Given the description of an element on the screen output the (x, y) to click on. 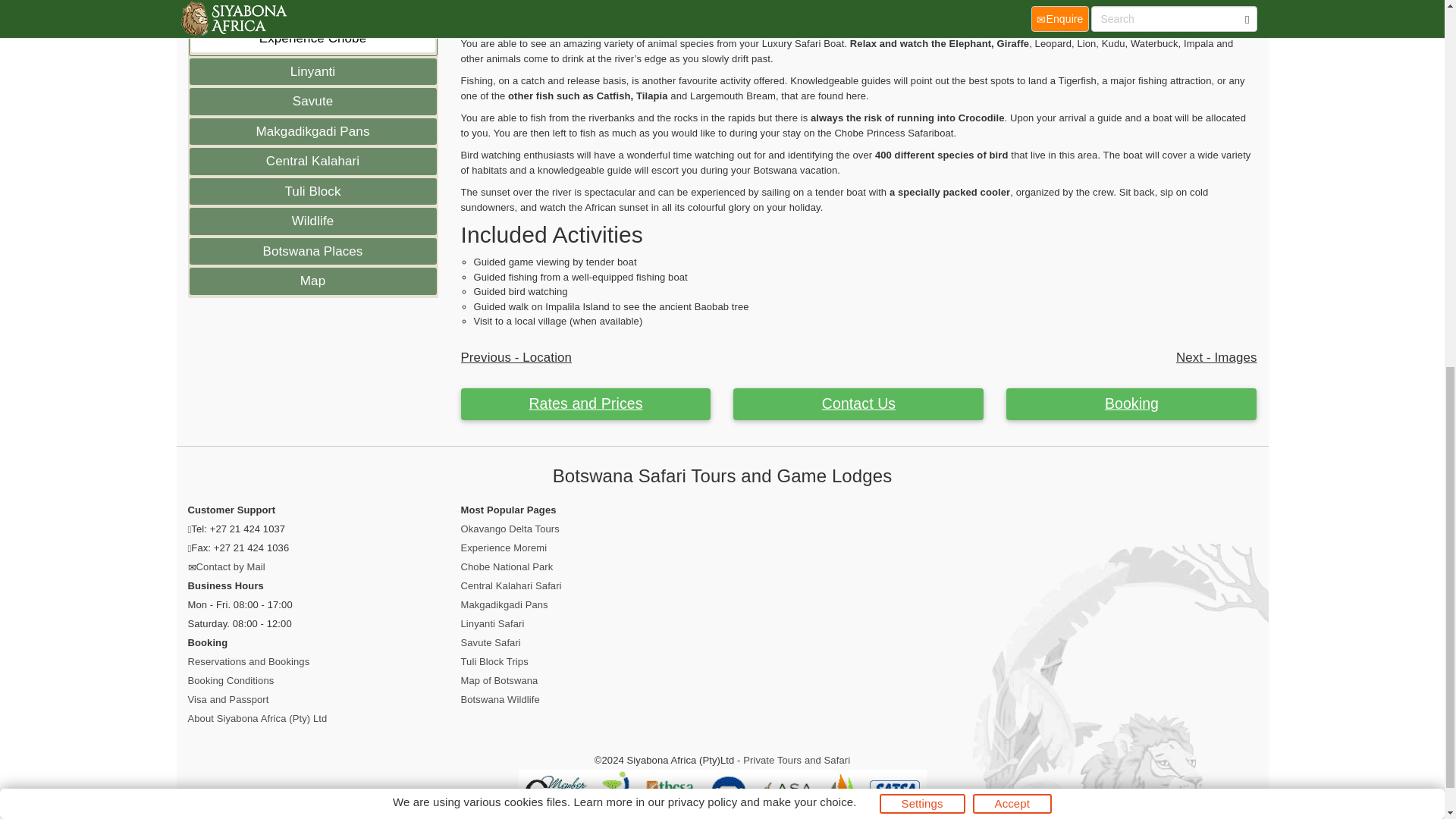
Map (312, 280)
Ask a Question (858, 404)
Wildlife (312, 221)
Rates and Prices (586, 404)
Botswana Places (312, 251)
Previous - Location (516, 357)
Savute (312, 101)
Request Booking (1131, 404)
Linyanti (312, 71)
Muchenje Safari Lodge (311, 10)
